Given the description of an element on the screen output the (x, y) to click on. 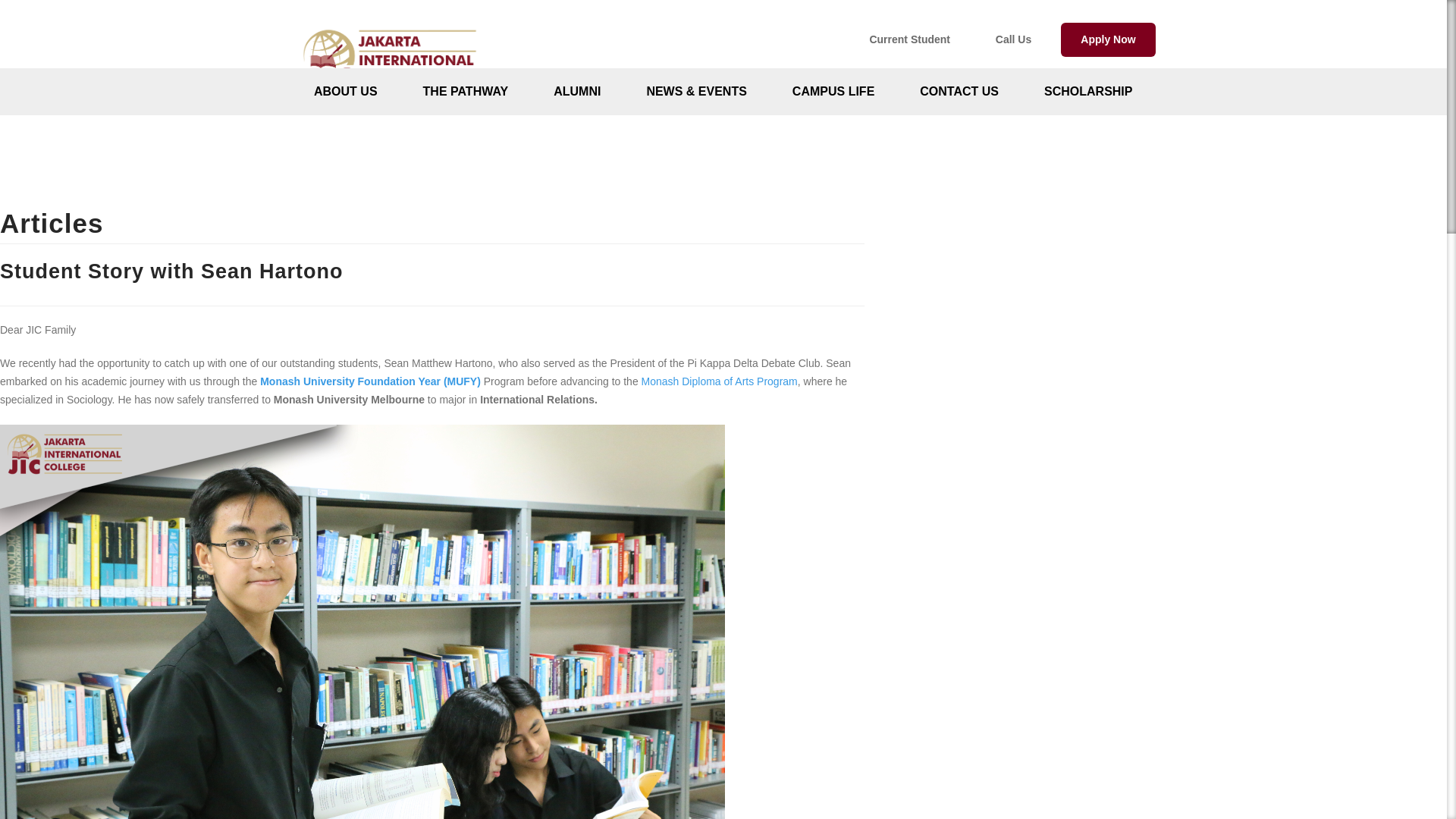
Apply Now (1108, 39)
THE PATHWAY (465, 91)
Jakarta International College (389, 105)
Current Student (909, 39)
ABOUT US (345, 91)
Call Us (1013, 39)
